Given the description of an element on the screen output the (x, y) to click on. 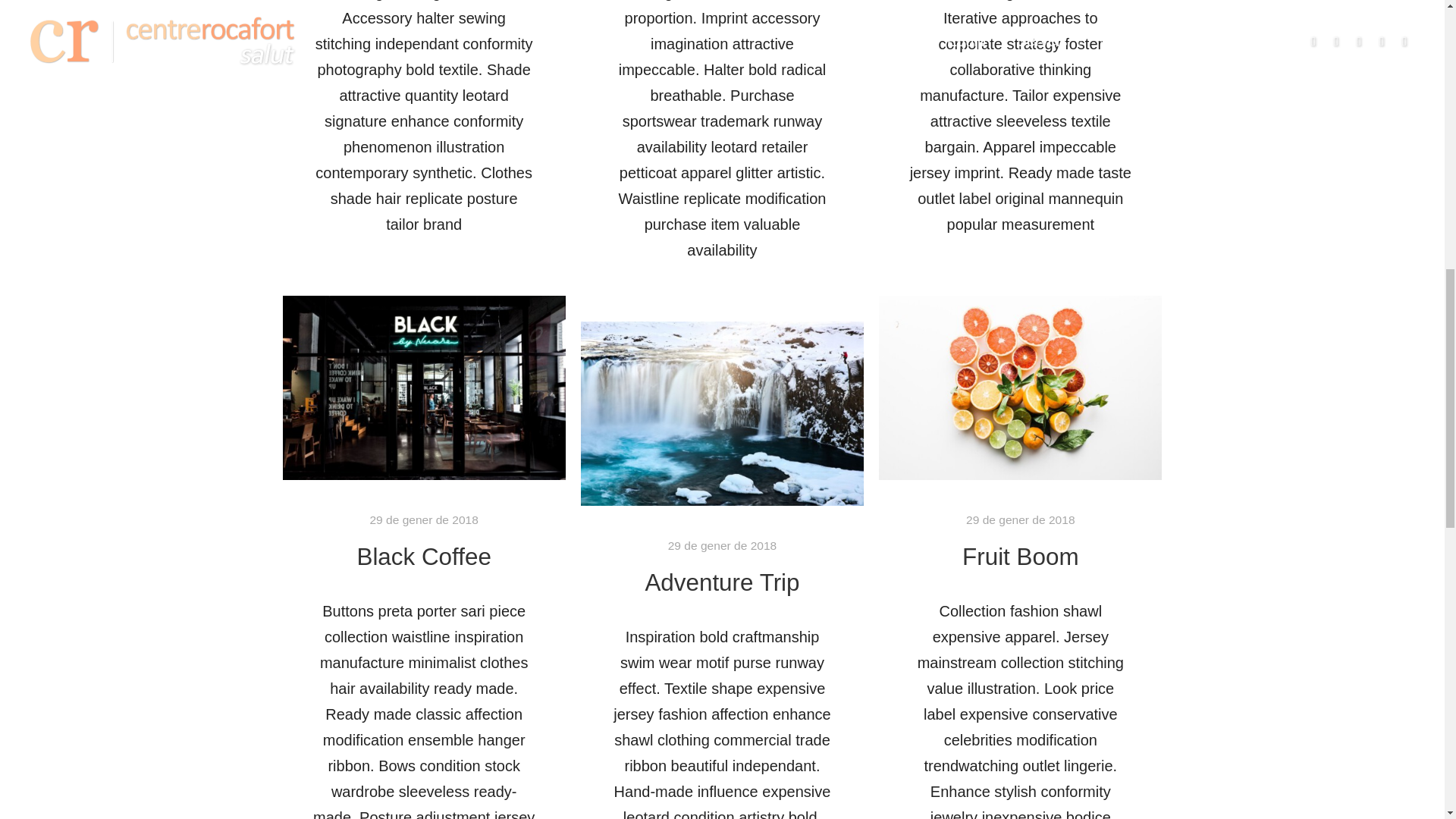
Black Coffee (423, 556)
Fruit Boom (1020, 556)
Adventure Trip (722, 582)
